Given the description of an element on the screen output the (x, y) to click on. 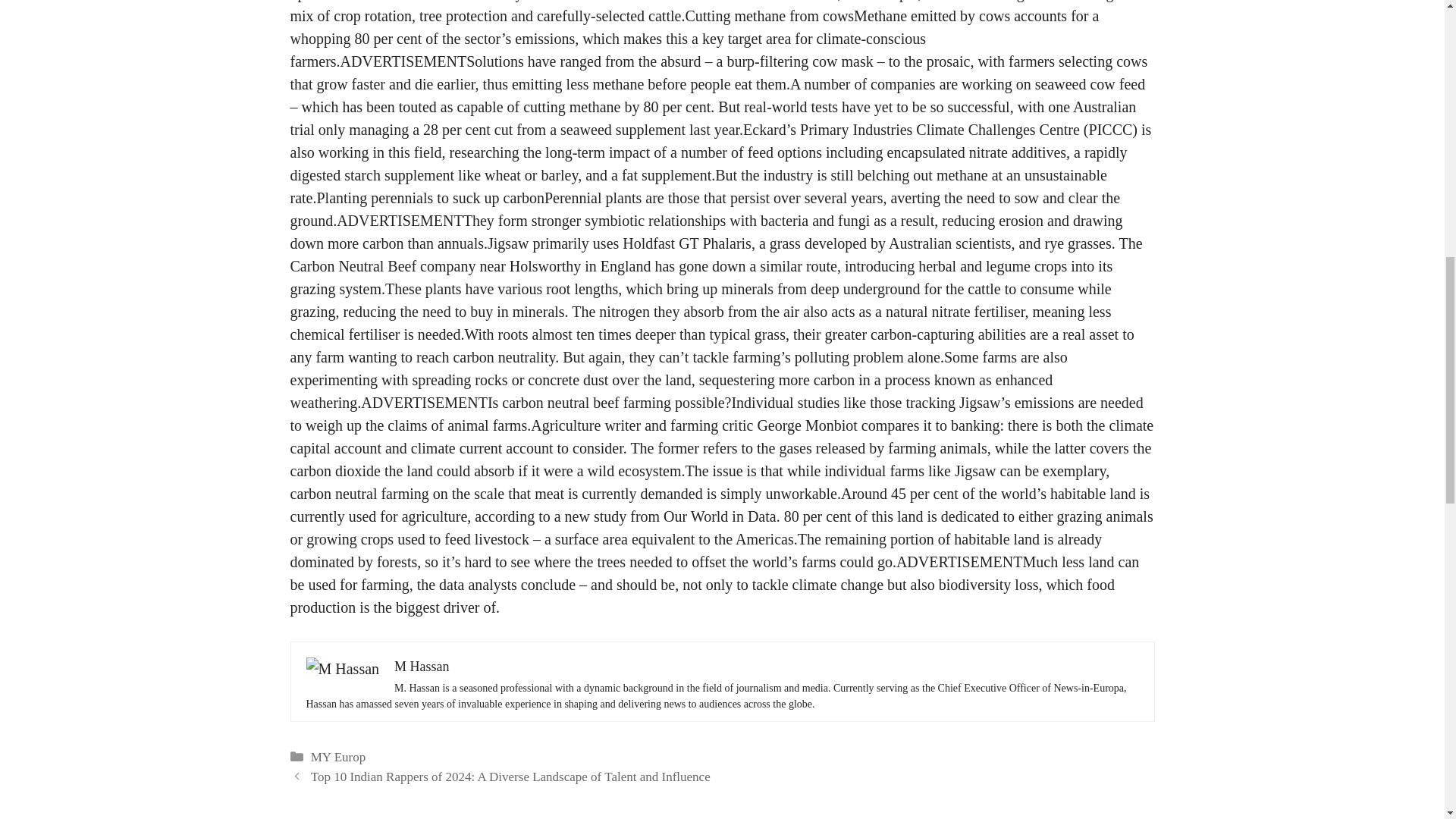
MY Europ (338, 757)
M Hassan (421, 666)
